Given the description of an element on the screen output the (x, y) to click on. 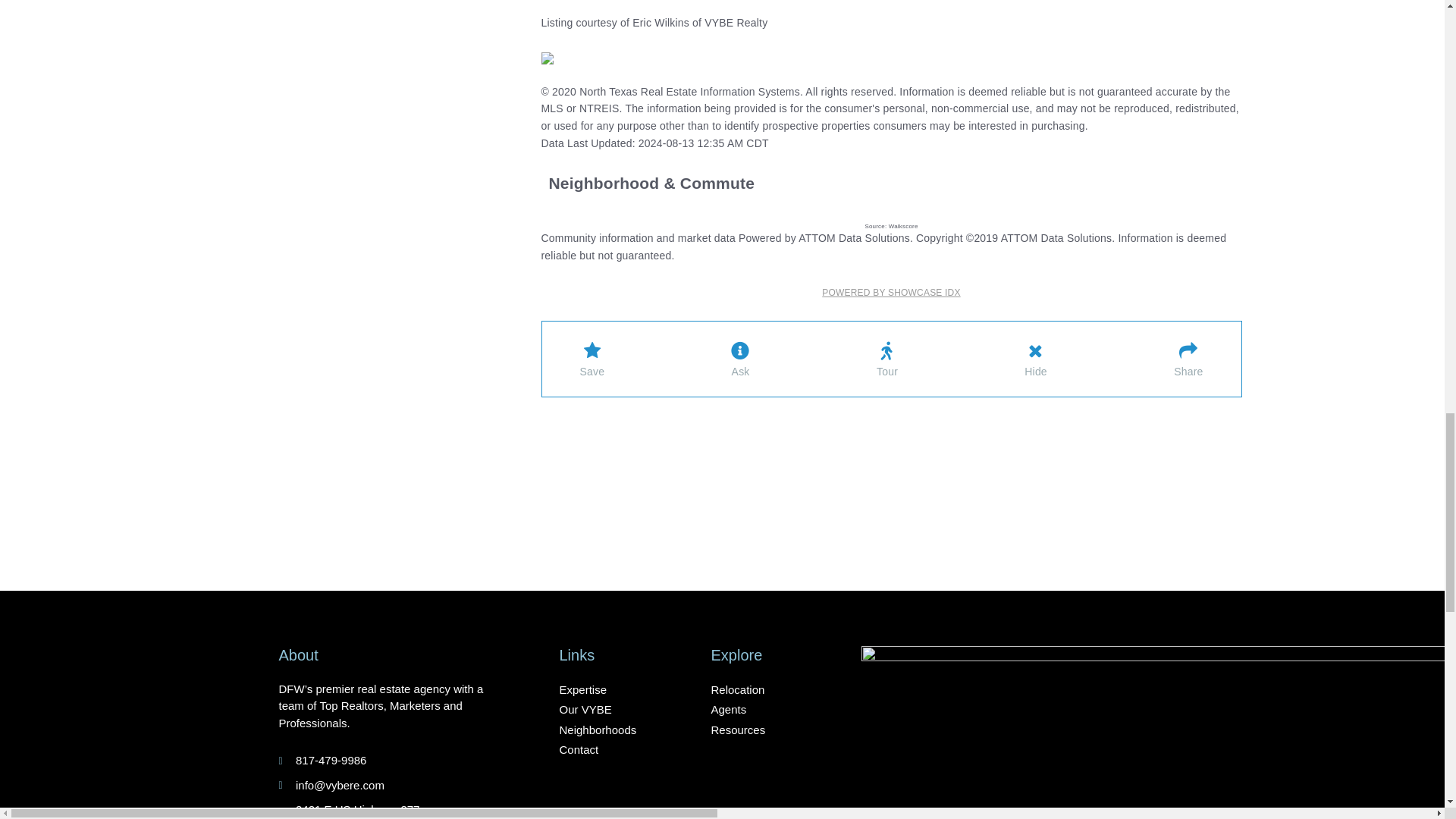
817-479-9986 (395, 760)
Our VYBE (395, 810)
POWERED BY SHOWCASE IDX (617, 710)
Expertise (890, 292)
Neighborhoods (617, 690)
